Given the description of an element on the screen output the (x, y) to click on. 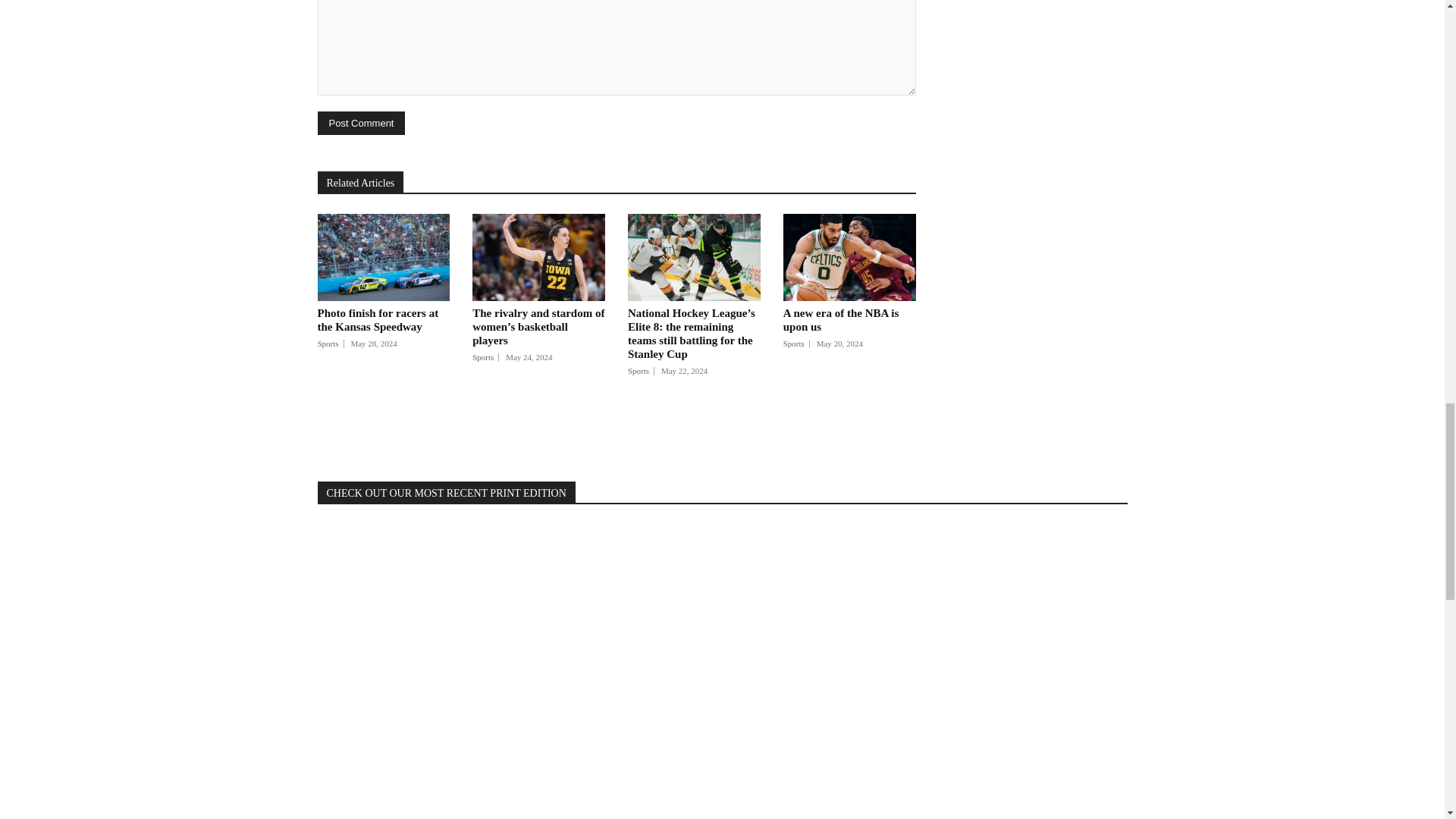
Post Comment (360, 123)
